Given the description of an element on the screen output the (x, y) to click on. 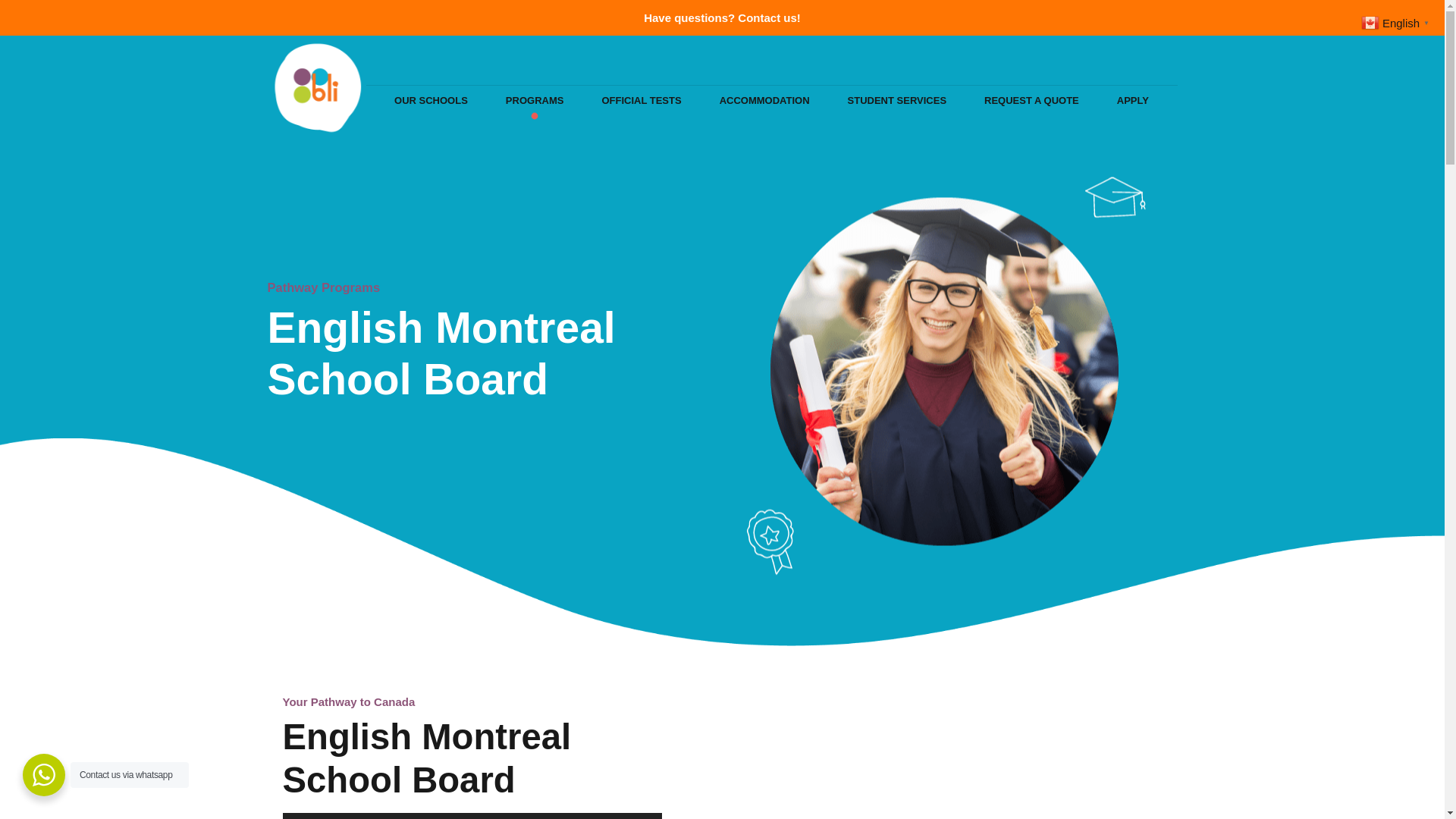
Have questions? Contact us! (721, 17)
PROGRAMS (534, 100)
OUR SCHOOLS (430, 100)
